Given the description of an element on the screen output the (x, y) to click on. 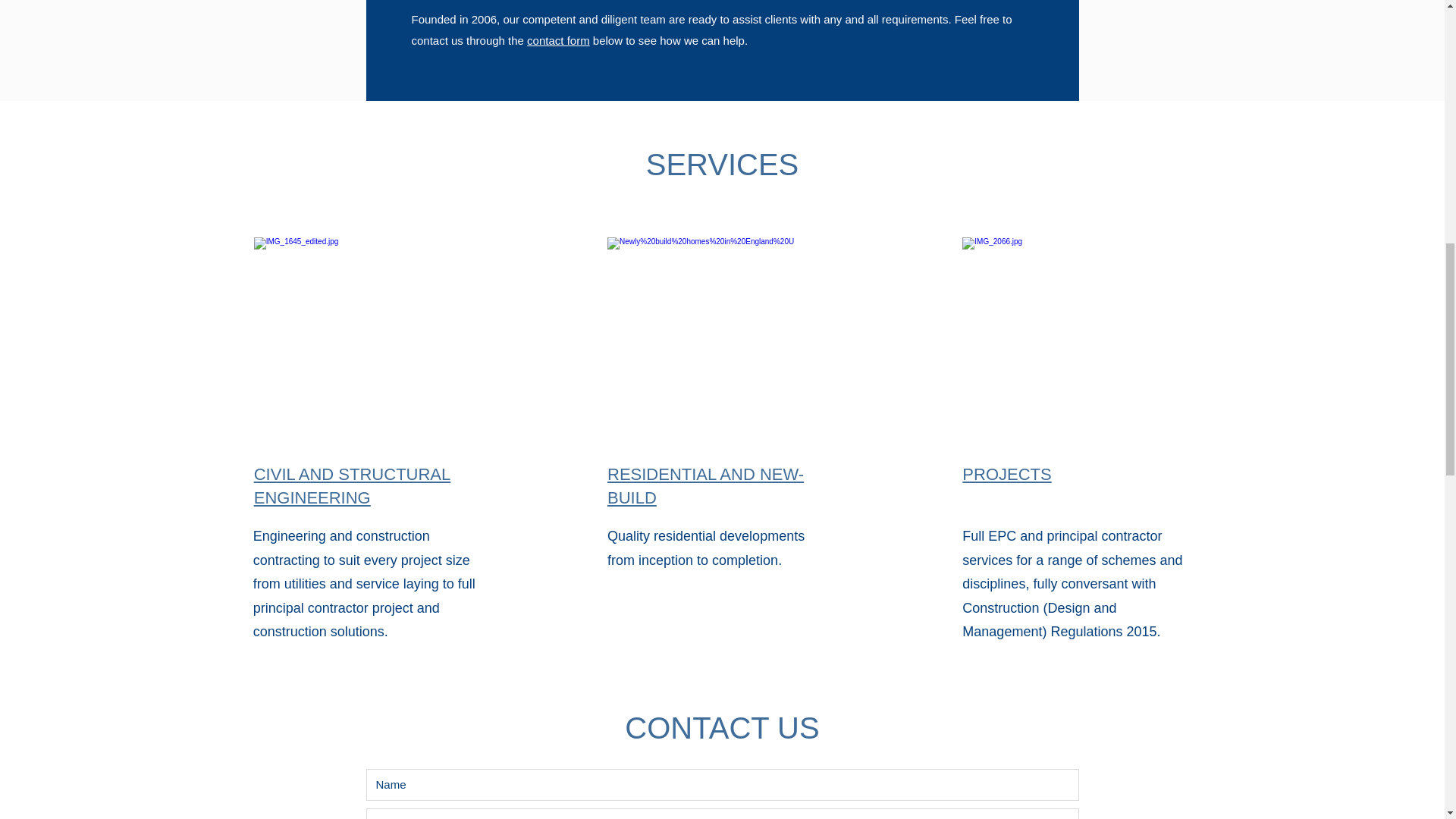
PROJECTS (1006, 474)
RESIDENTIAL AND NEW-BUILD (705, 485)
CIVIL AND STRUCTURAL ENGINEERING (352, 485)
contact form (558, 40)
